Given the description of an element on the screen output the (x, y) to click on. 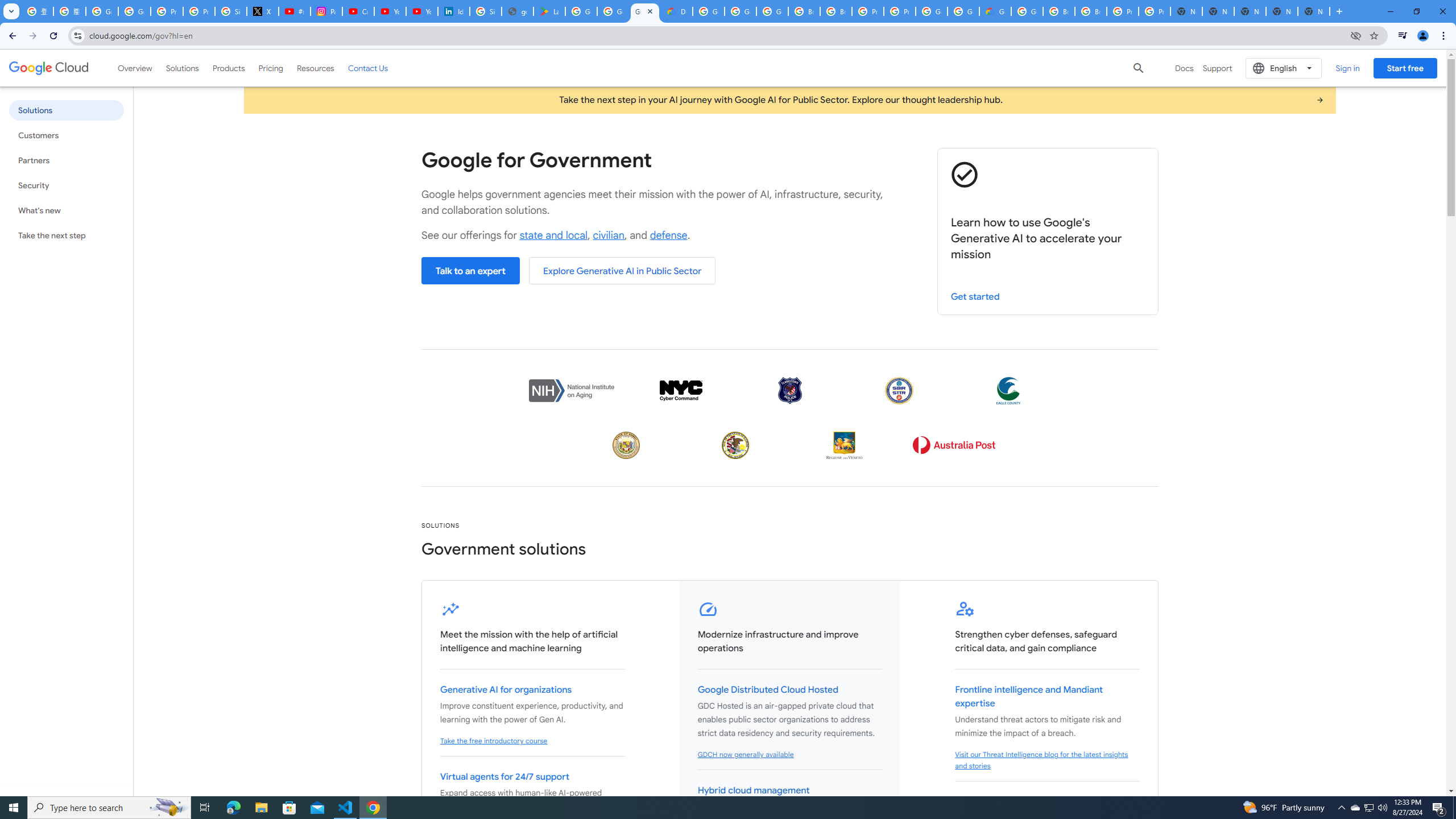
NYC (680, 390)
Solutions (181, 67)
San Joaquin County (735, 445)
Resources (314, 67)
Google Distributed Cloud Hosted (767, 689)
Google Cloud Platform (708, 11)
Privacy Help Center - Policies Help (198, 11)
Start free (1405, 67)
Products (228, 67)
